Given the description of an element on the screen output the (x, y) to click on. 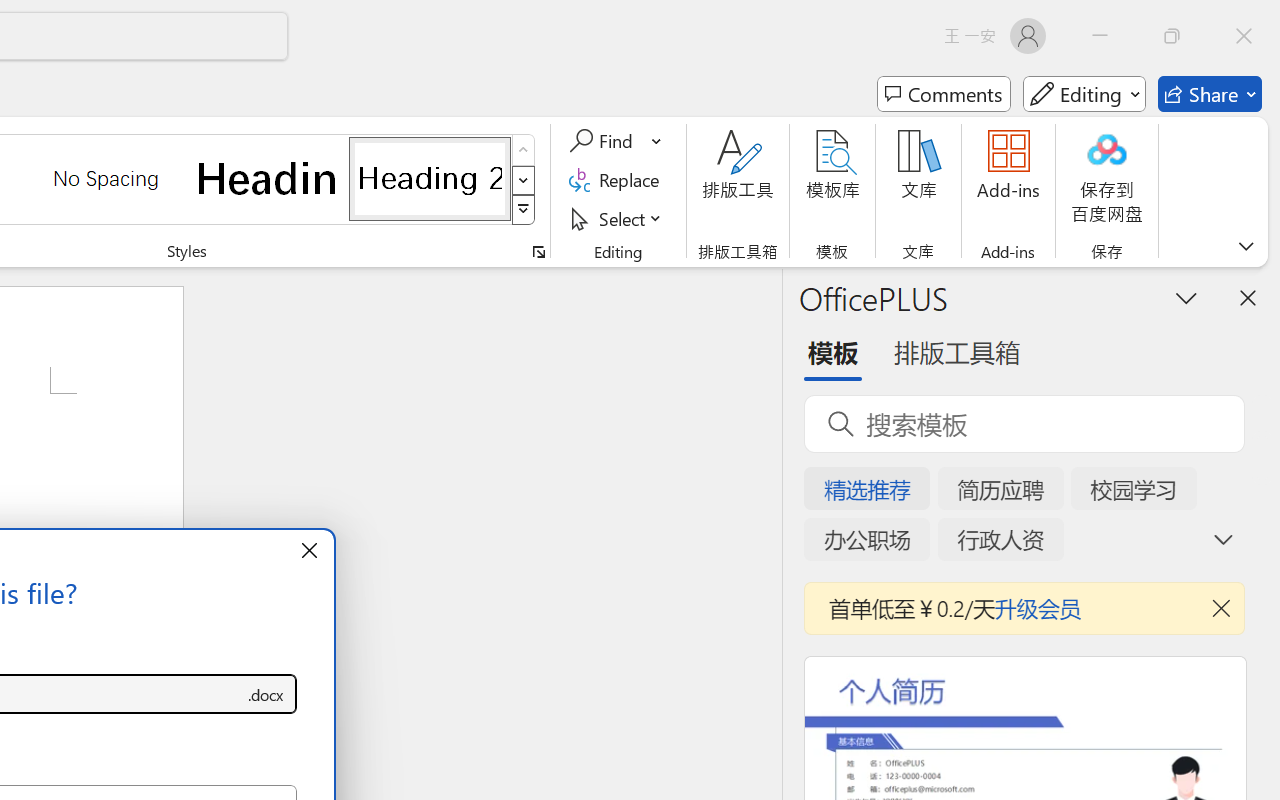
Styles... (538, 252)
Styles (523, 209)
Close (1244, 36)
Find (616, 141)
